Given the description of an element on the screen output the (x, y) to click on. 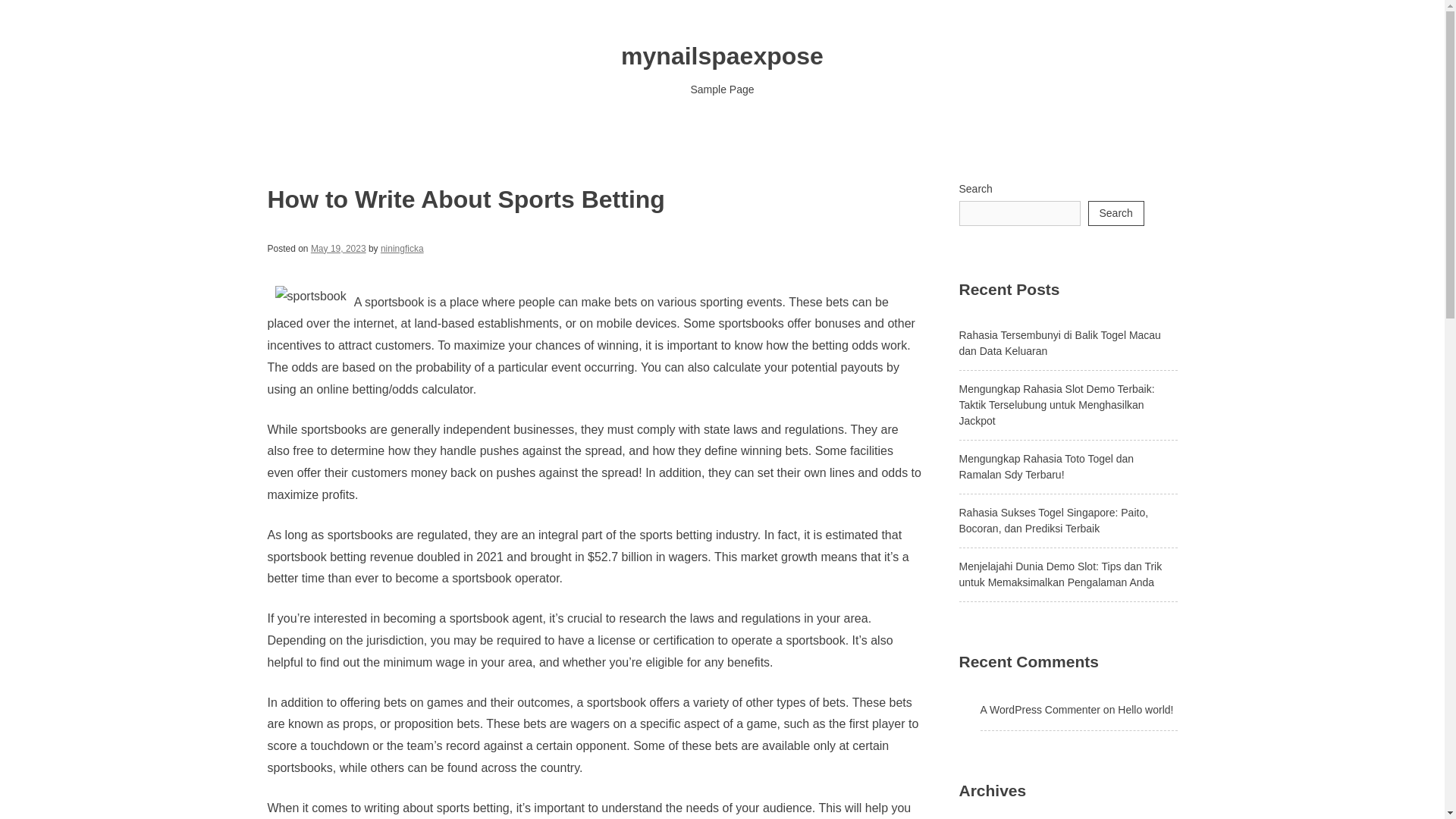
Mengungkap Rahasia Toto Togel dan Ramalan Sdy Terbaru! (1046, 466)
Hello world! (1145, 709)
Search (1114, 213)
Rahasia Tersembunyi di Balik Togel Macau dan Data Keluaran (1059, 343)
niningficka (401, 248)
A WordPress Commenter (1039, 709)
Sample Page (722, 89)
May 19, 2023 (338, 248)
mynailspaexpose (722, 55)
